Given the description of an element on the screen output the (x, y) to click on. 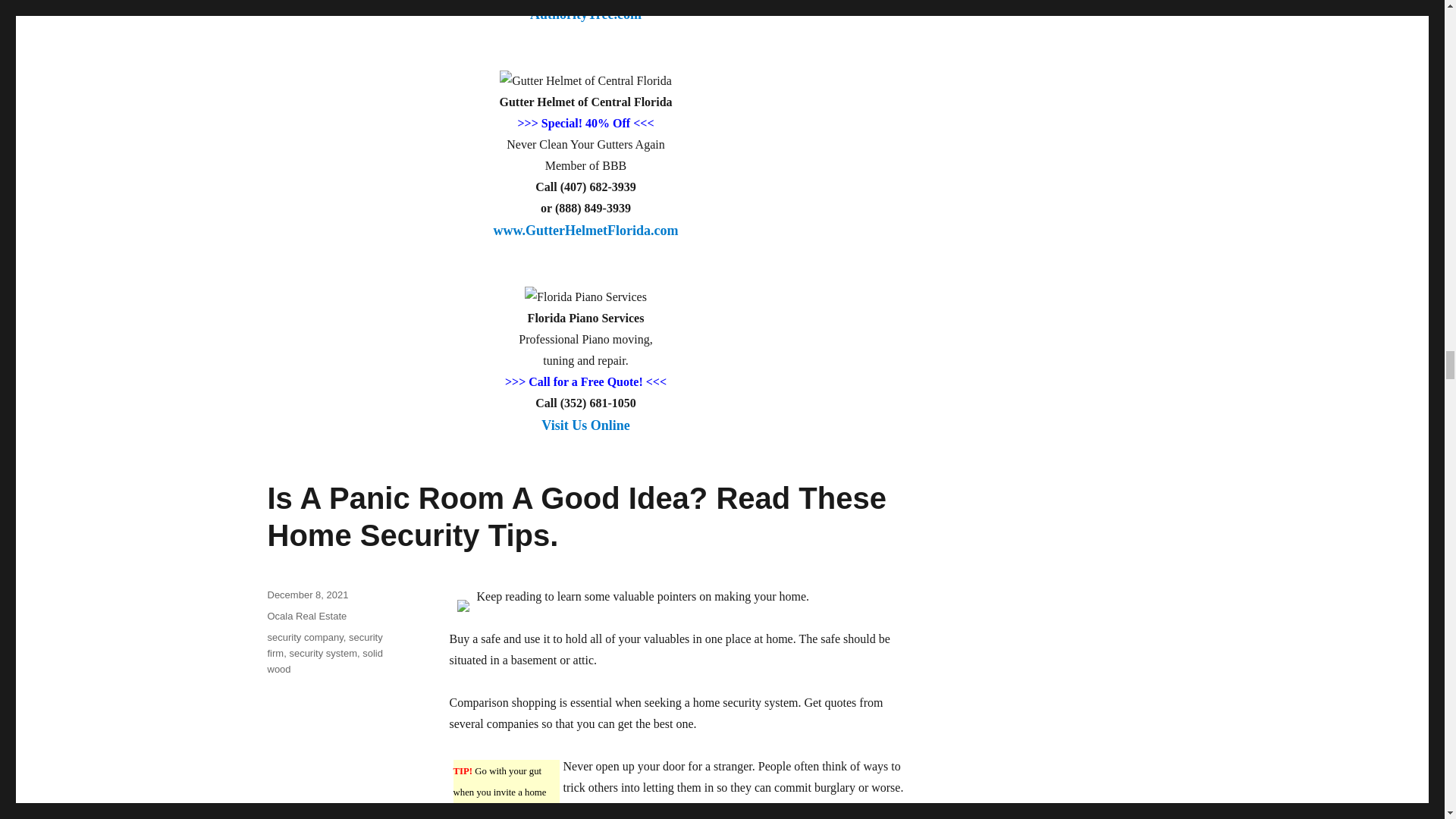
security company (304, 636)
security firm (323, 645)
solid wood (323, 660)
Is A Panic Room A Good Idea? Read These Home Security Tips. (575, 516)
December 8, 2021 (306, 594)
www.GutterHelmetFlorida.com (585, 239)
Visit Us Online (585, 434)
security system (322, 653)
Ocala Real Estate (306, 615)
